Given the description of an element on the screen output the (x, y) to click on. 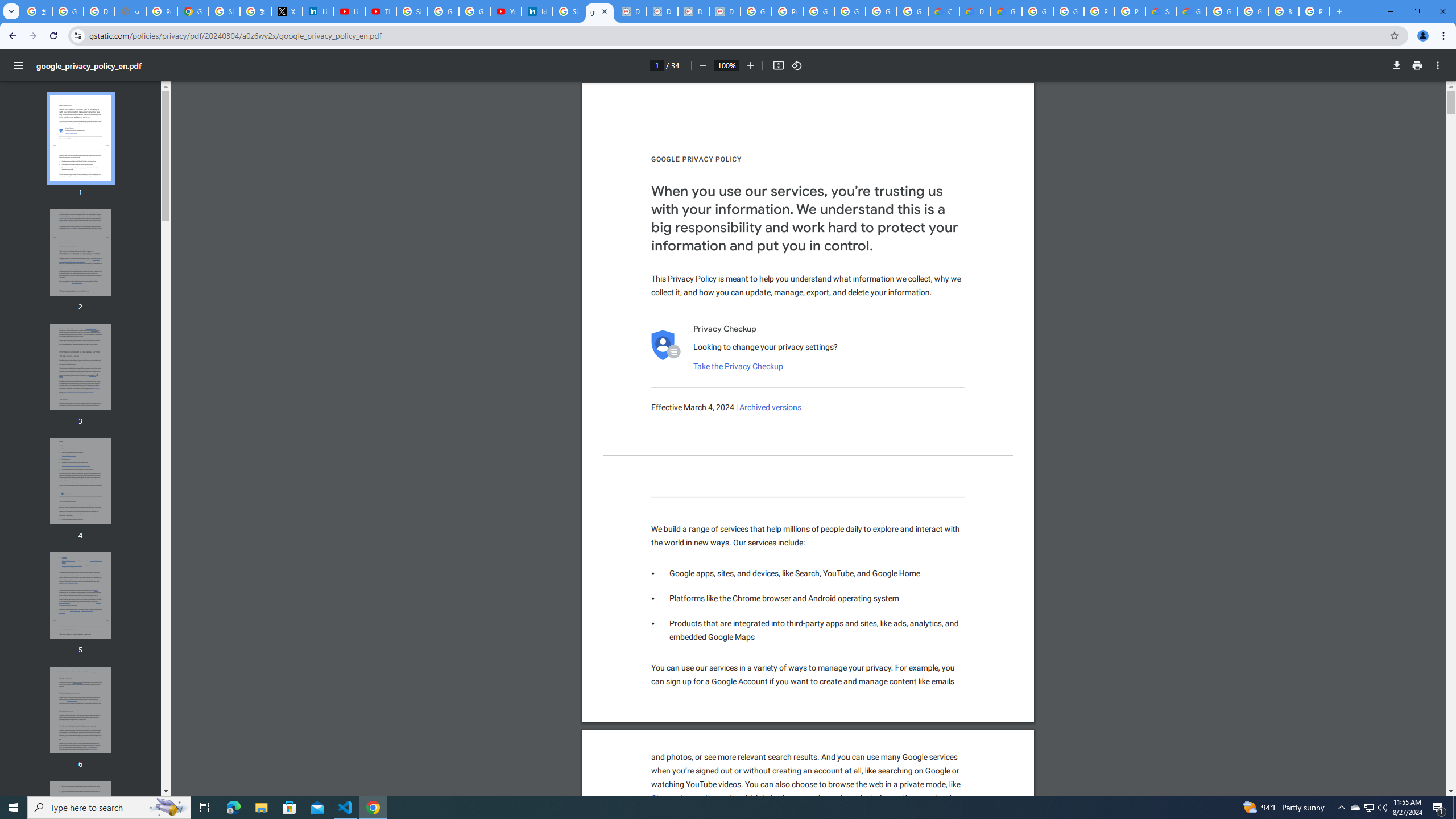
Google Workspace - Specific Terms (912, 11)
Thumbnail for page 4 (80, 481)
